Given the description of an element on the screen output the (x, y) to click on. 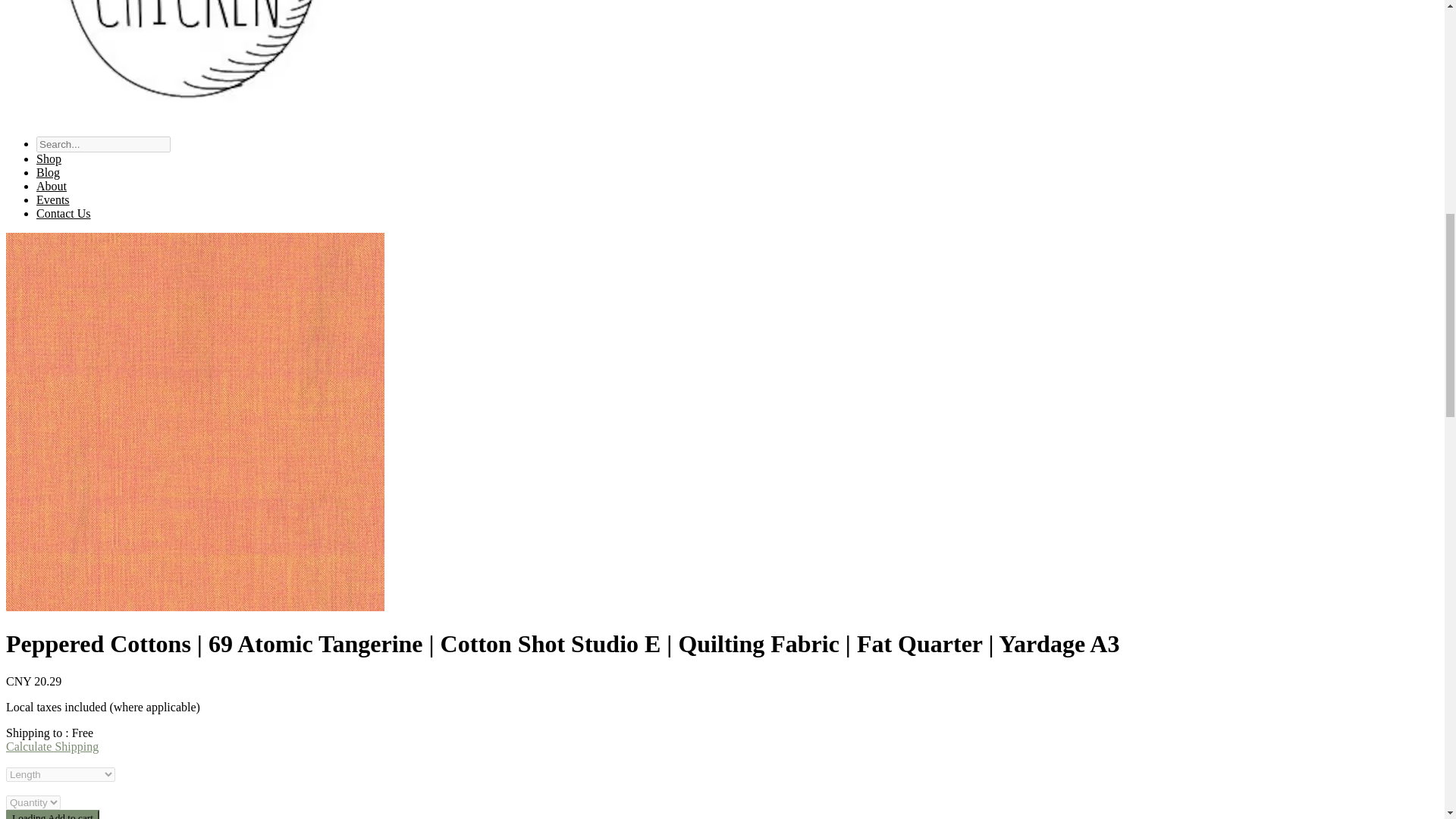
Contact Us (63, 213)
Blog (47, 172)
About (51, 185)
Events (52, 199)
Loading Add to cart (52, 814)
Calculate Shipping (52, 746)
Shop (48, 158)
